Given the description of an element on the screen output the (x, y) to click on. 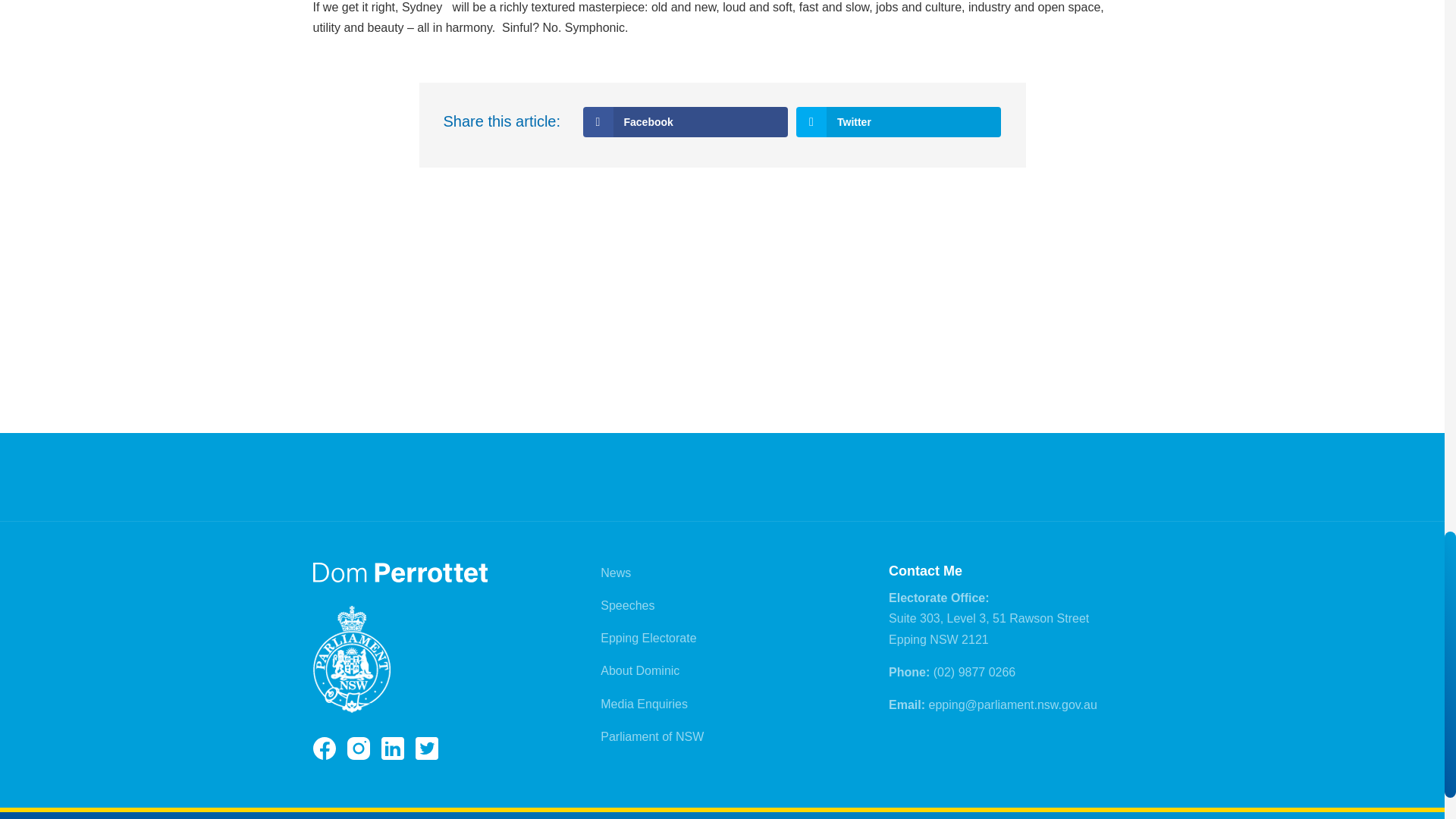
News (614, 572)
Facebook (684, 122)
Media Enquiries (643, 703)
Parliament of NSW (651, 736)
Epping Electorate (647, 637)
About Dominic (639, 670)
Twitter (898, 122)
Speeches (626, 604)
